Given the description of an element on the screen output the (x, y) to click on. 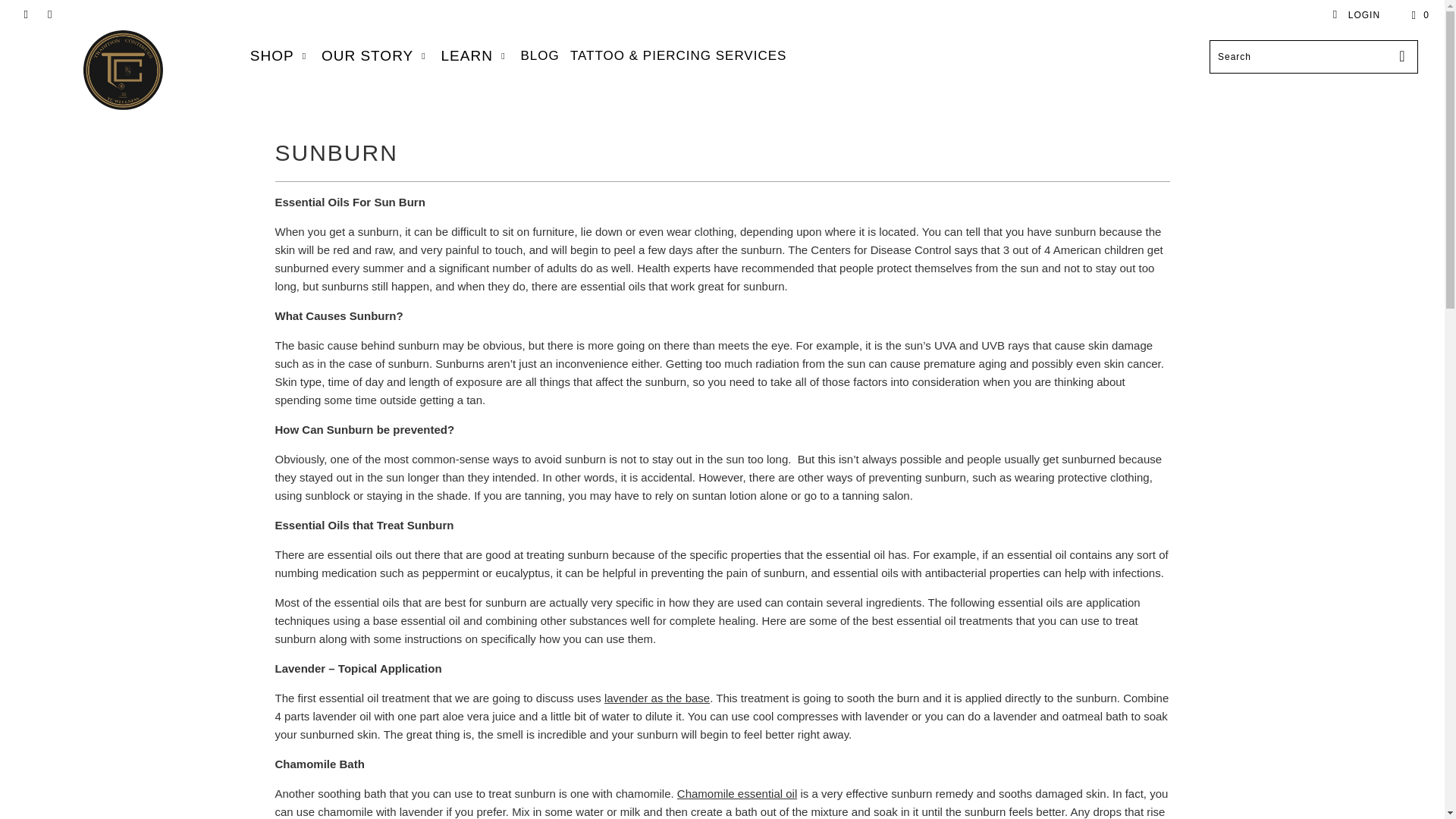
TC Essential Oils on Instagram (48, 14)
TC Essential Oils (122, 69)
TC Essential Oils on Facebook (25, 14)
My Account  (1355, 15)
